Given the description of an element on the screen output the (x, y) to click on. 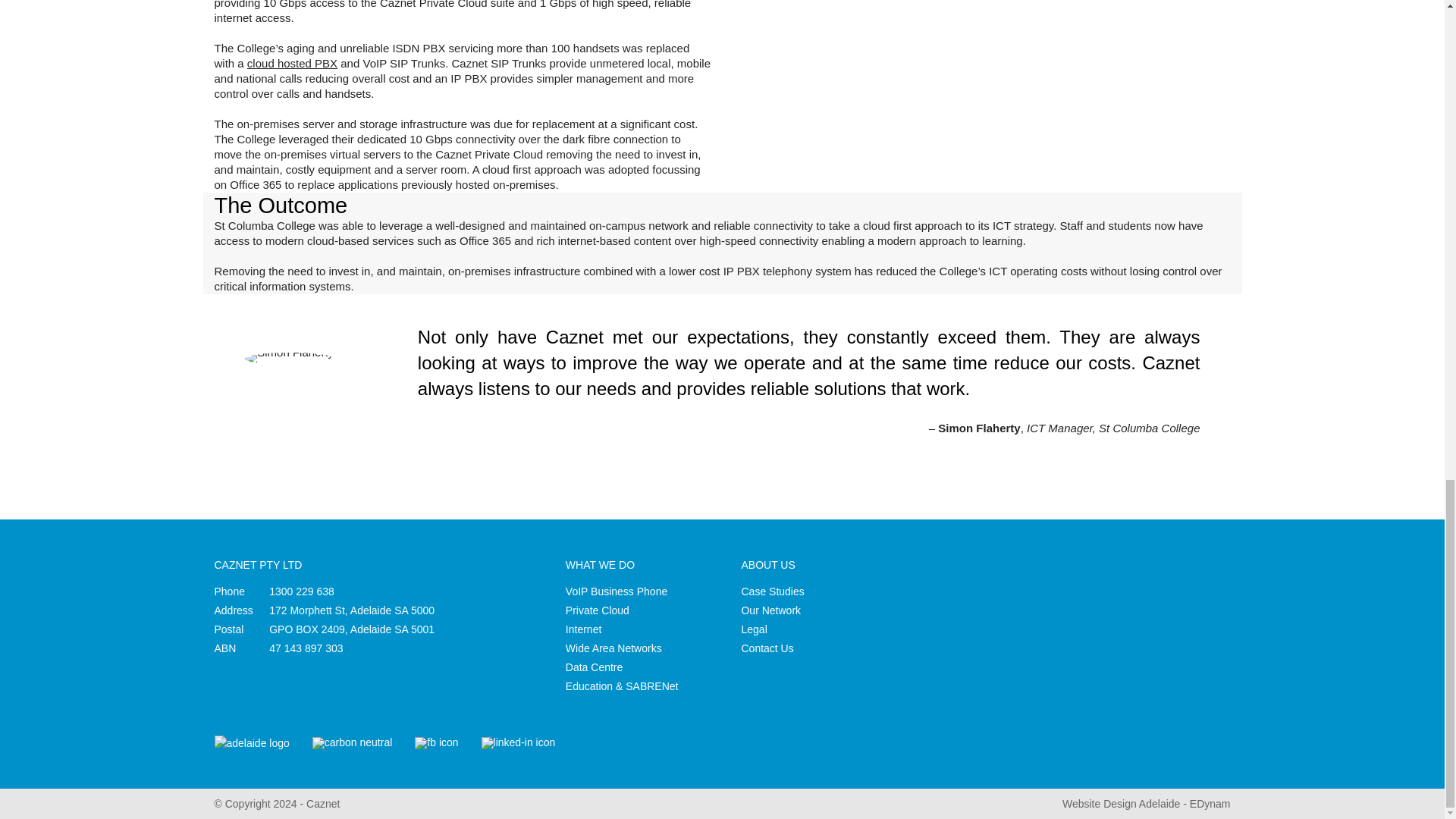
caznet-cs-columba (981, 50)
simon-flaherty (288, 358)
VoIP Business Phone (616, 591)
cloud hosted PBX (292, 62)
Internet (583, 629)
1300 229 638 (301, 591)
Private Cloud (597, 610)
Web Design Adelaide (1146, 803)
Wide Area Networks (614, 648)
